Given the description of an element on the screen output the (x, y) to click on. 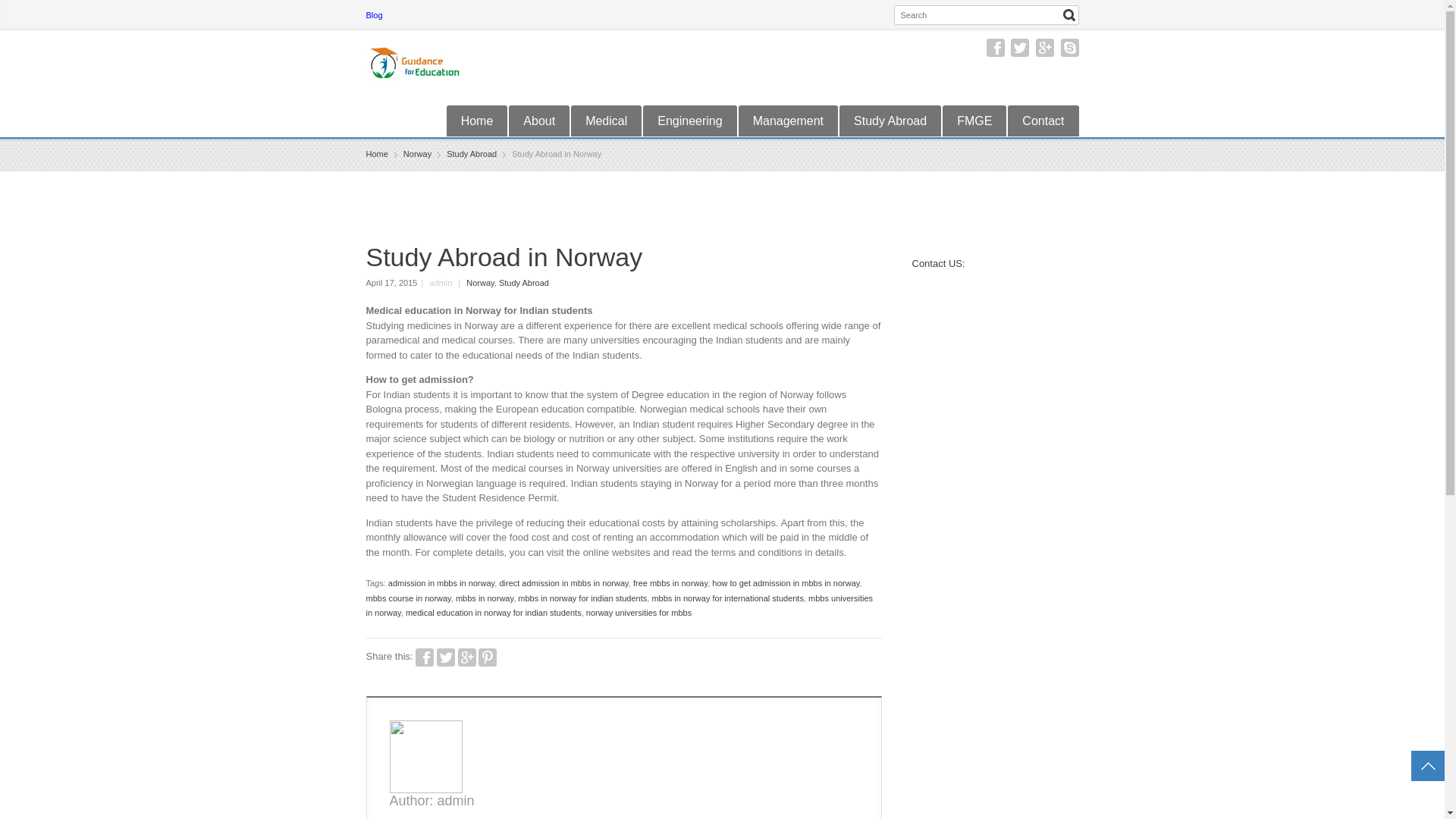
Study Abroad (890, 121)
Medical (606, 121)
Twitter (1019, 47)
Search (1068, 14)
mbbs in norway for indian students (582, 597)
Study Abroad (523, 282)
FMGE (974, 121)
direct admission in mbbs in norway (563, 583)
how to get admission in mbbs in norway (785, 583)
Study Abroad (471, 153)
